Given the description of an element on the screen output the (x, y) to click on. 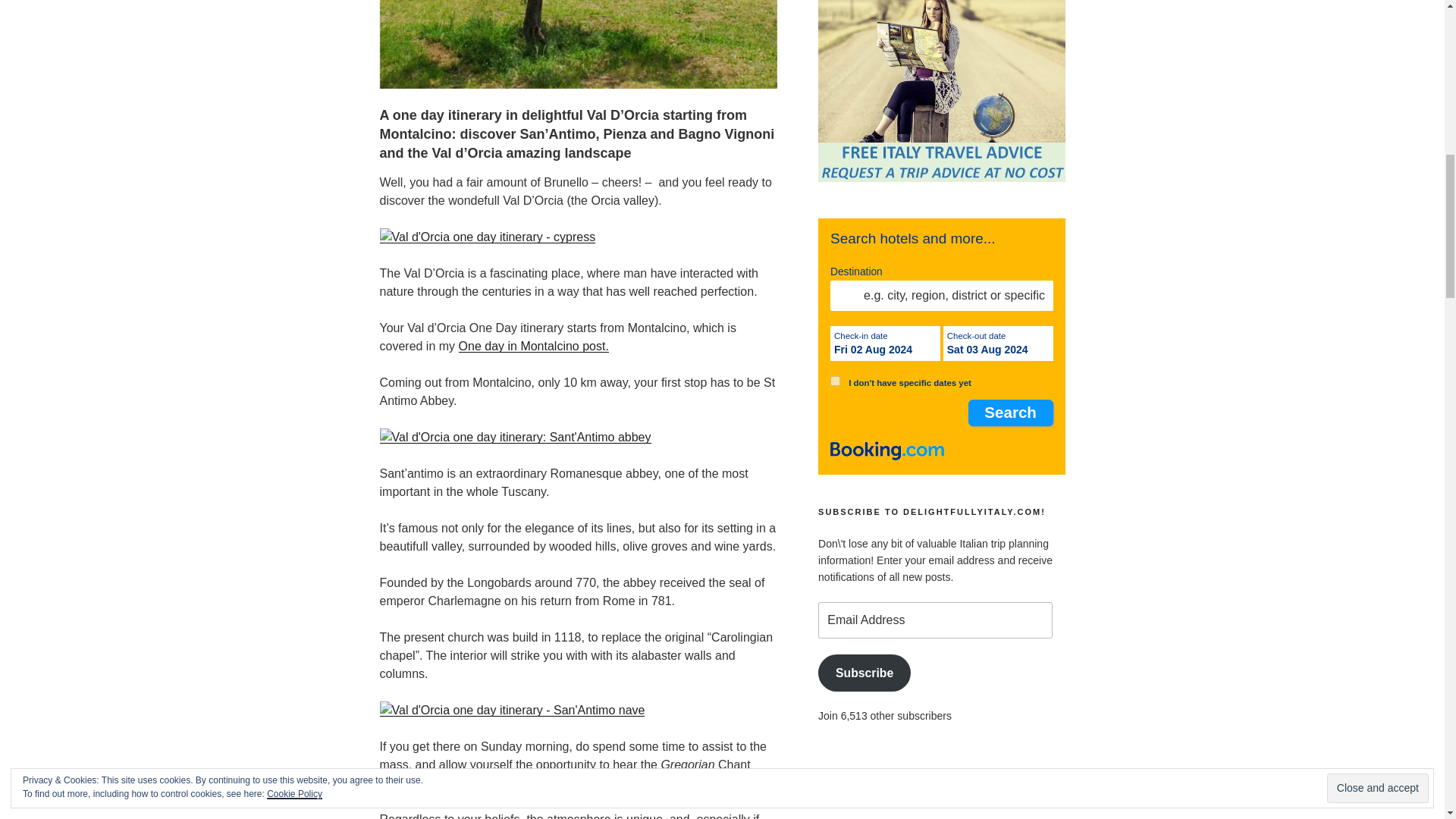
One day in Montalcino post. (533, 345)
on (834, 380)
Search (1010, 412)
